Given the description of an element on the screen output the (x, y) to click on. 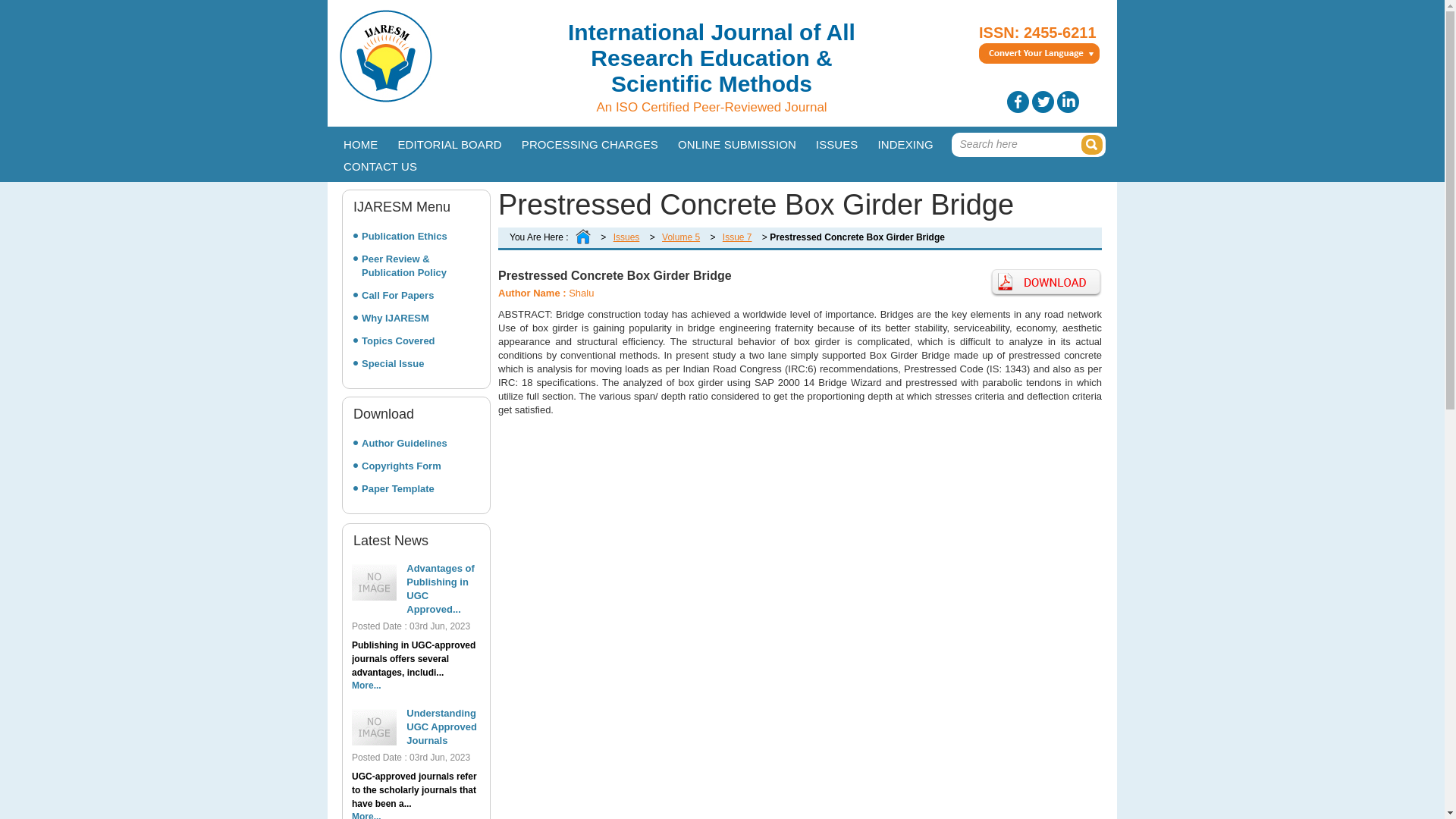
Issues (836, 143)
Home (360, 143)
HOME (360, 143)
ONLINE SUBMISSION (736, 143)
Editorial Board (449, 143)
Linked In (1067, 101)
IJARESM (385, 99)
ISSUES (836, 143)
PROCESSING CHARGES (589, 143)
Twitter (1041, 101)
